Given the description of an element on the screen output the (x, y) to click on. 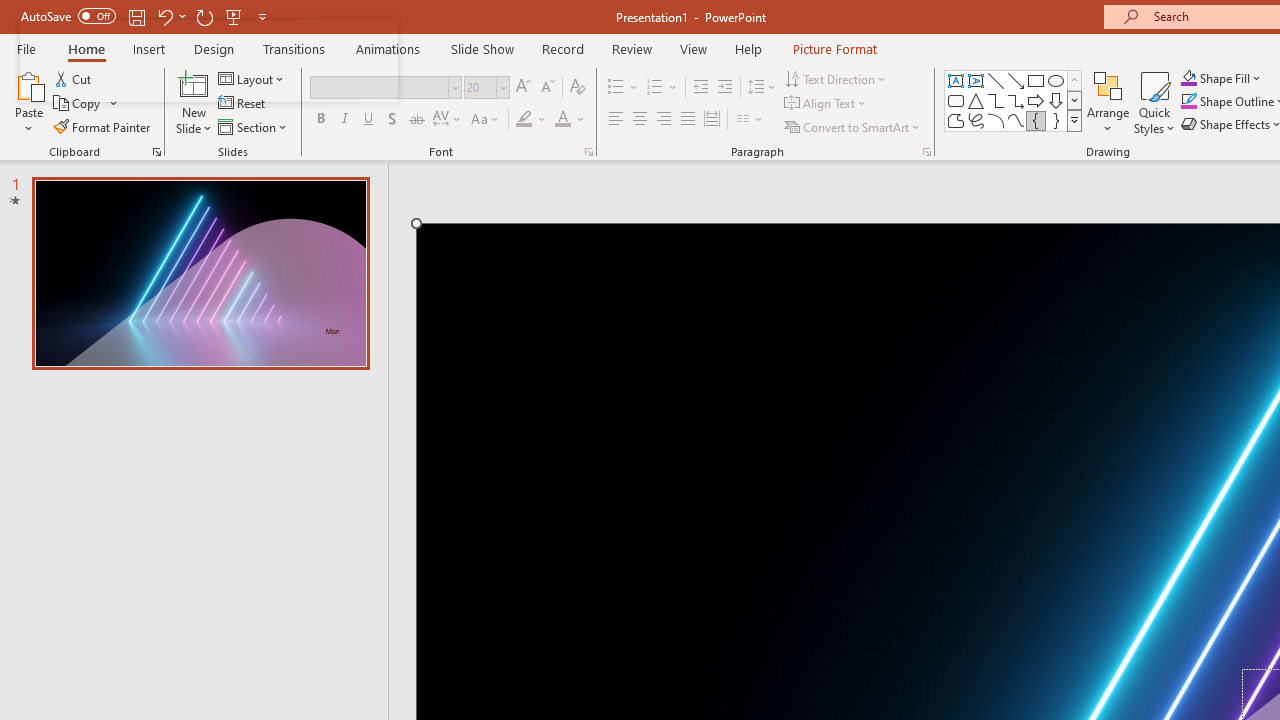
Save (136, 15)
Arrange (1108, 102)
Columns (750, 119)
Copy (78, 103)
Cut (73, 78)
Animations (388, 48)
Text Direction (836, 78)
Section (254, 126)
Distributed (712, 119)
Shapes (1074, 120)
Bold (320, 119)
Redo (204, 15)
Font (385, 87)
Picture Format (834, 48)
